Given the description of an element on the screen output the (x, y) to click on. 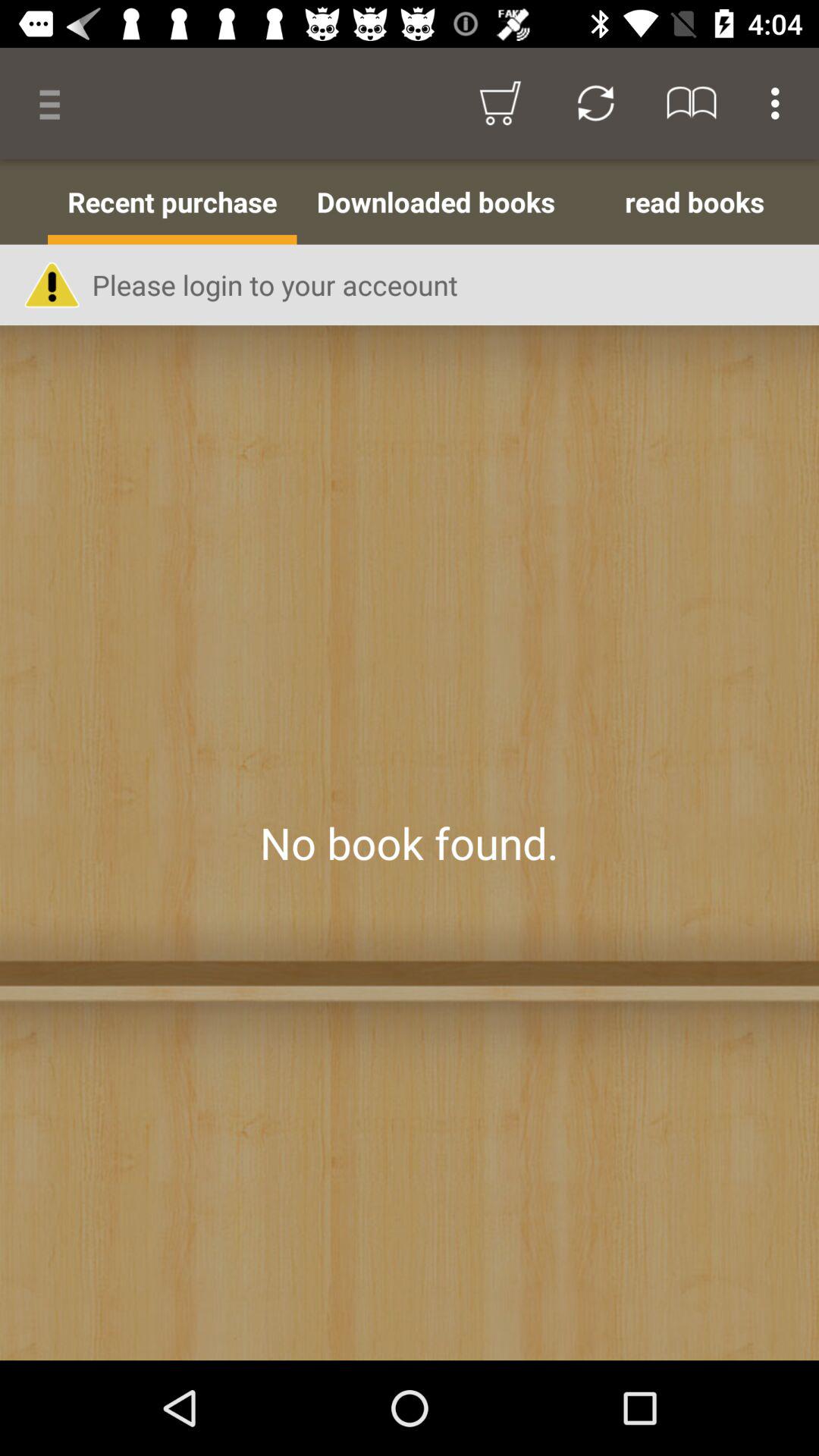
launch the icon next to the recent purchase icon (23, 201)
